Given the description of an element on the screen output the (x, y) to click on. 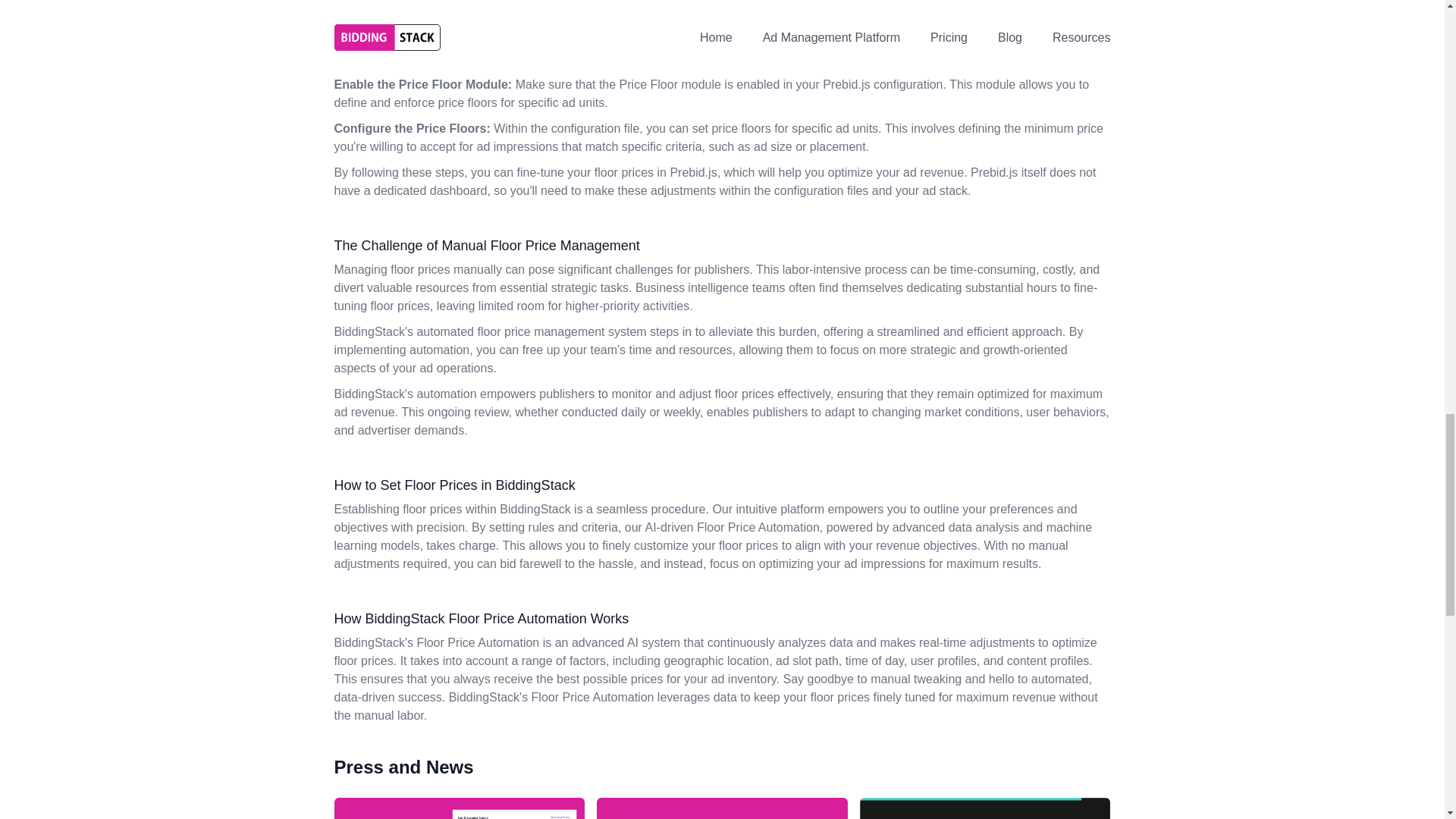
Announcing Header Bidding Inspector for Chrome (721, 808)
Announcing Header Bidding Inspector for Chrome (721, 808)
